Given the description of an element on the screen output the (x, y) to click on. 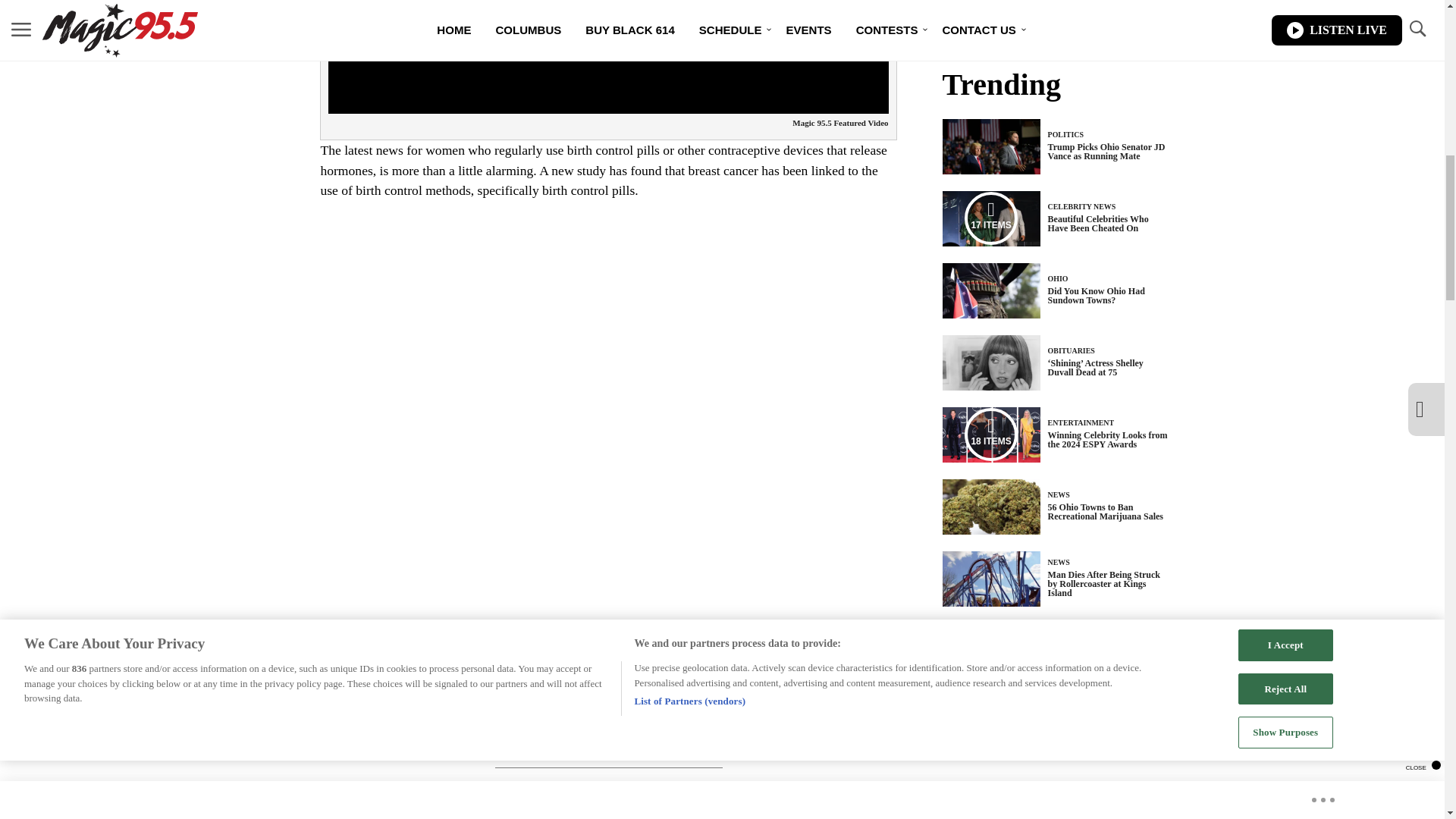
Media Playlist (990, 434)
Media Playlist (990, 217)
